Given the description of an element on the screen output the (x, y) to click on. 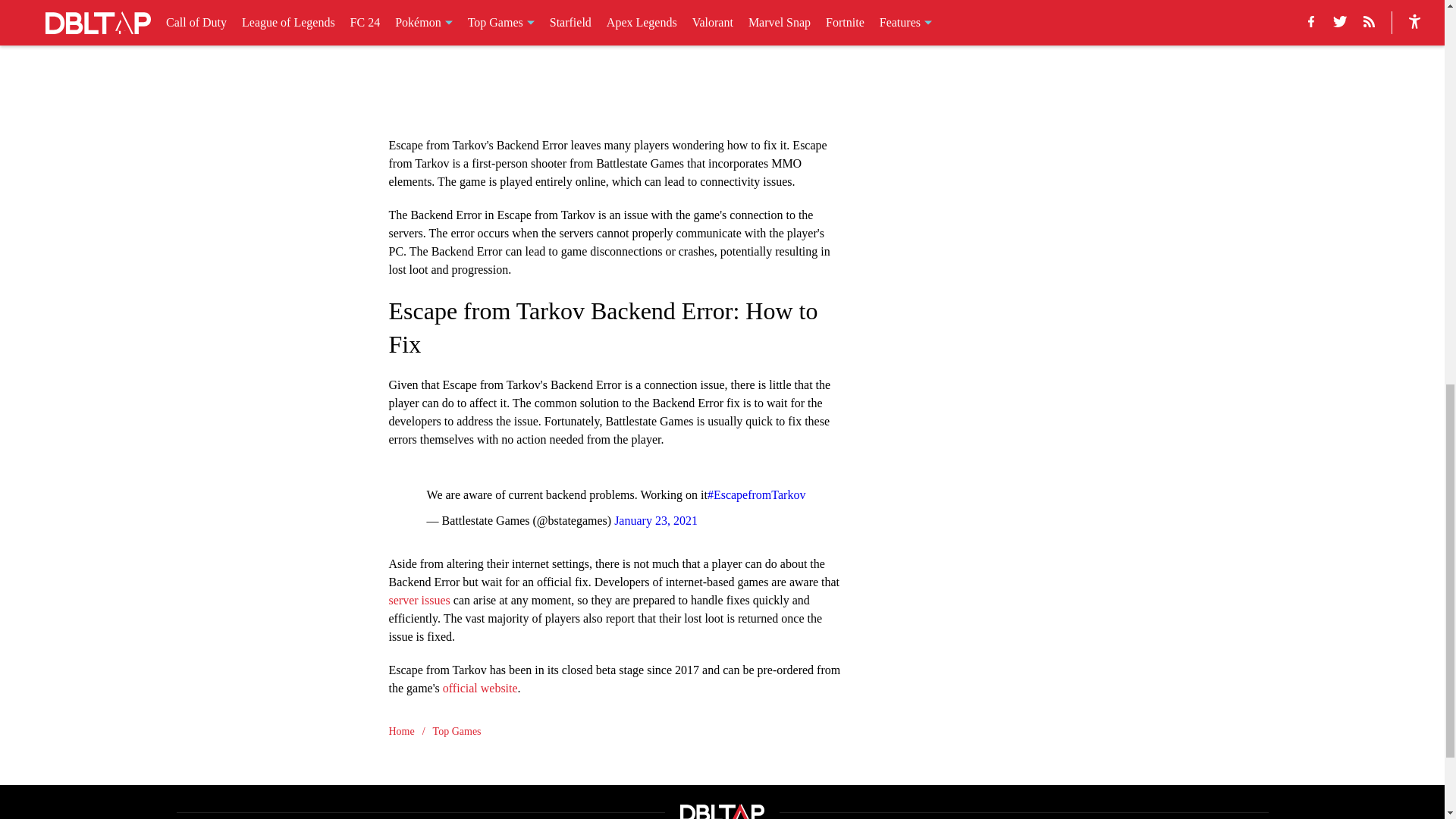
server issues (418, 599)
Home (400, 730)
official website (480, 686)
January 23, 2021 (655, 520)
Top Games (456, 730)
